Given the description of an element on the screen output the (x, y) to click on. 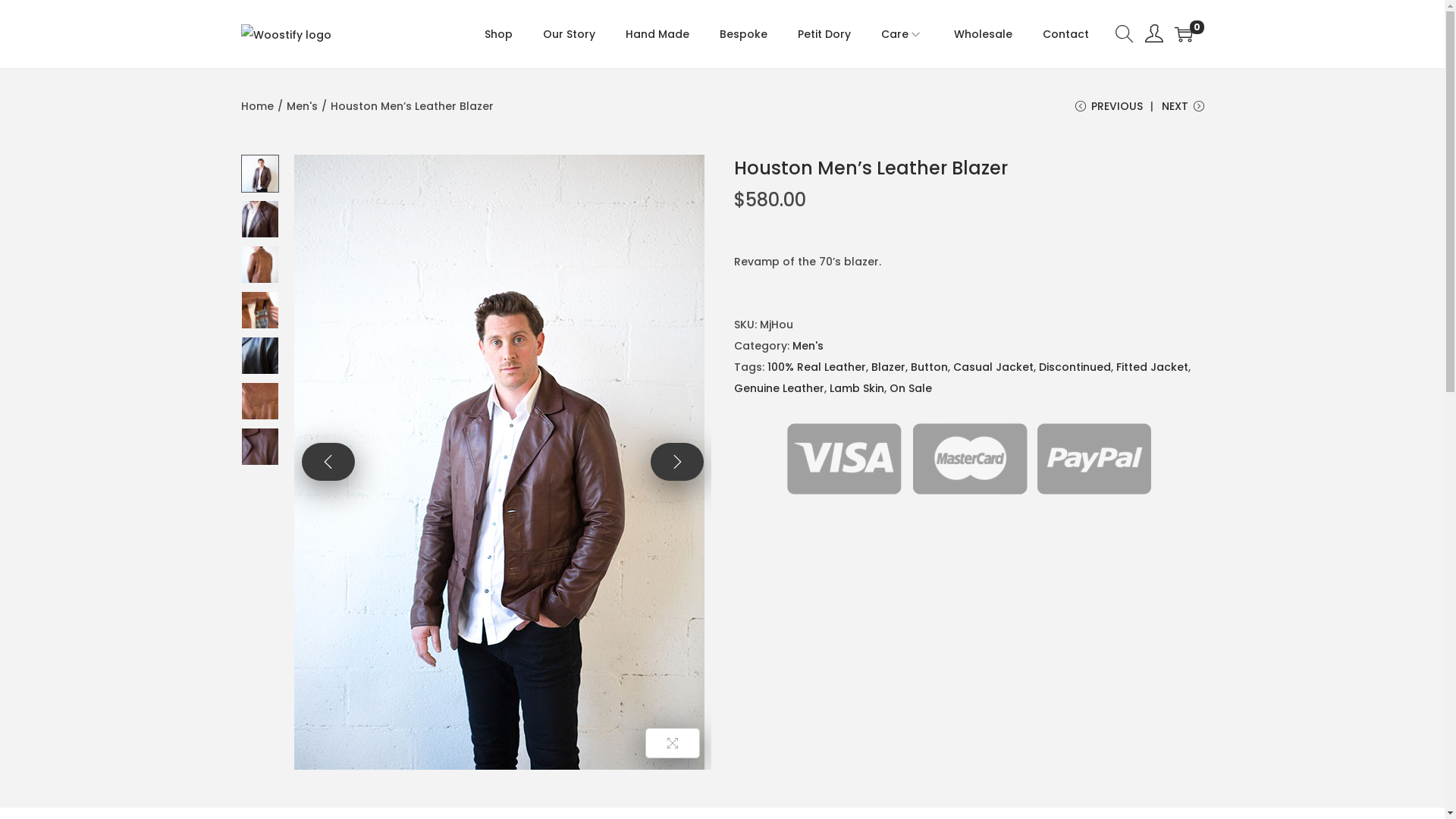
Lamb Skin Element type: text (856, 387)
On Sale Element type: text (909, 387)
Blazer Element type: text (887, 366)
Petit Dory Element type: text (823, 34)
PREVIOUS Element type: text (1108, 111)
Home Element type: text (257, 105)
Search Element type: text (942, 428)
NEXT Element type: text (1182, 111)
Wholesale Element type: text (982, 34)
Casual Jacket Element type: text (992, 366)
0 Element type: text (1182, 34)
Men's Element type: text (301, 105)
Discontinued Element type: text (1074, 366)
Contact Element type: text (1064, 34)
Hand Made Element type: text (656, 34)
Our Story Element type: text (568, 34)
Shop Element type: text (497, 34)
Care Element type: text (902, 34)
100% Real Leather Element type: text (816, 366)
Button Element type: text (928, 366)
Genuine Leather Element type: text (779, 387)
Men's Element type: text (806, 345)
Fitted Jacket Element type: text (1152, 366)
Bespoke Element type: text (742, 34)
